Given the description of an element on the screen output the (x, y) to click on. 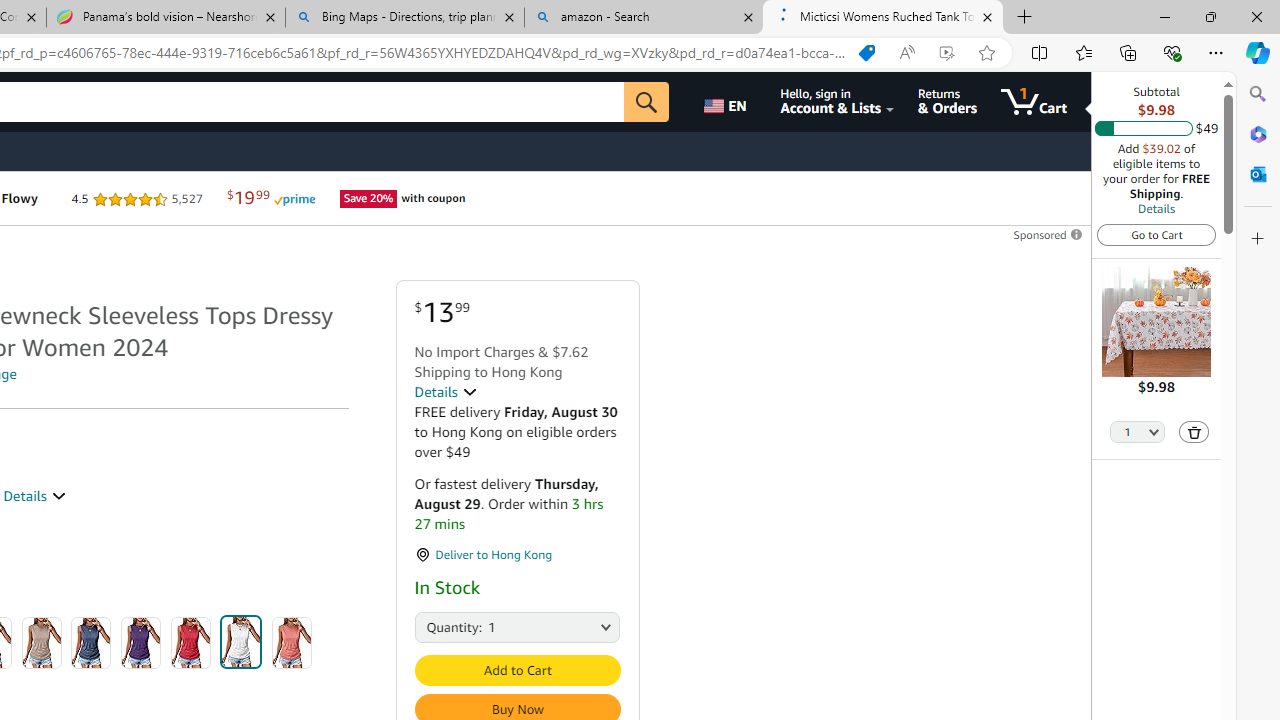
Purple (141, 642)
Purple (141, 642)
Navy Blue (91, 642)
Khaki (41, 642)
Quantity: (436, 626)
Navy Blue (91, 642)
Red (190, 642)
Details (1156, 208)
